Given the description of an element on the screen output the (x, y) to click on. 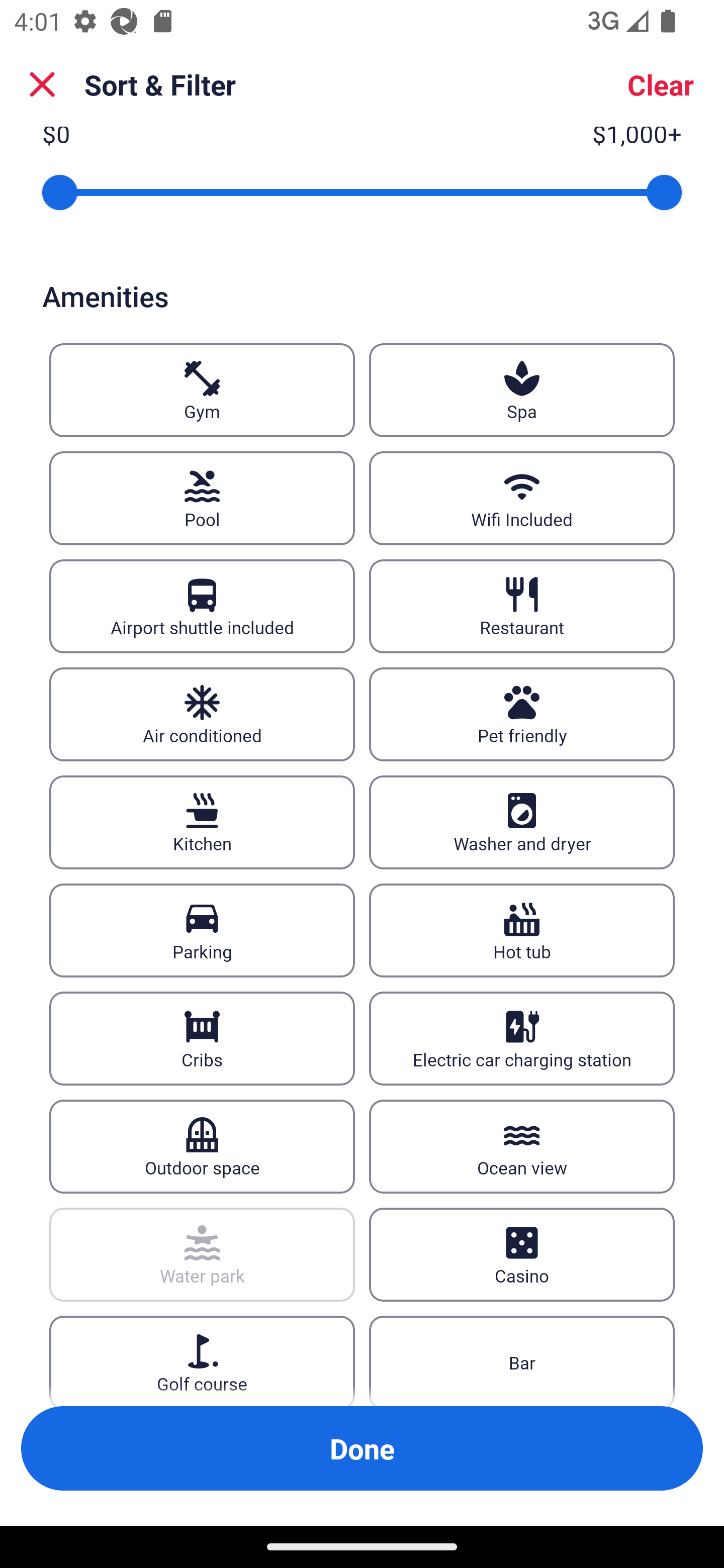
Close Sort and Filter (42, 84)
Clear (660, 84)
Gym (201, 390)
Spa (521, 390)
Pool (201, 498)
Wifi Included (521, 498)
Airport shuttle included (201, 606)
Restaurant (521, 606)
Air conditioned (201, 714)
Pet friendly (521, 714)
Kitchen (201, 822)
Washer and dryer (521, 822)
Parking (201, 929)
Hot tub (521, 929)
Cribs (201, 1037)
Electric car charging station (521, 1037)
Outdoor space (201, 1146)
Ocean view (521, 1146)
Water park (201, 1254)
Casino (521, 1254)
Golf course (201, 1360)
Bar (521, 1360)
Apply and close Sort and Filter Done (361, 1448)
